Given the description of an element on the screen output the (x, y) to click on. 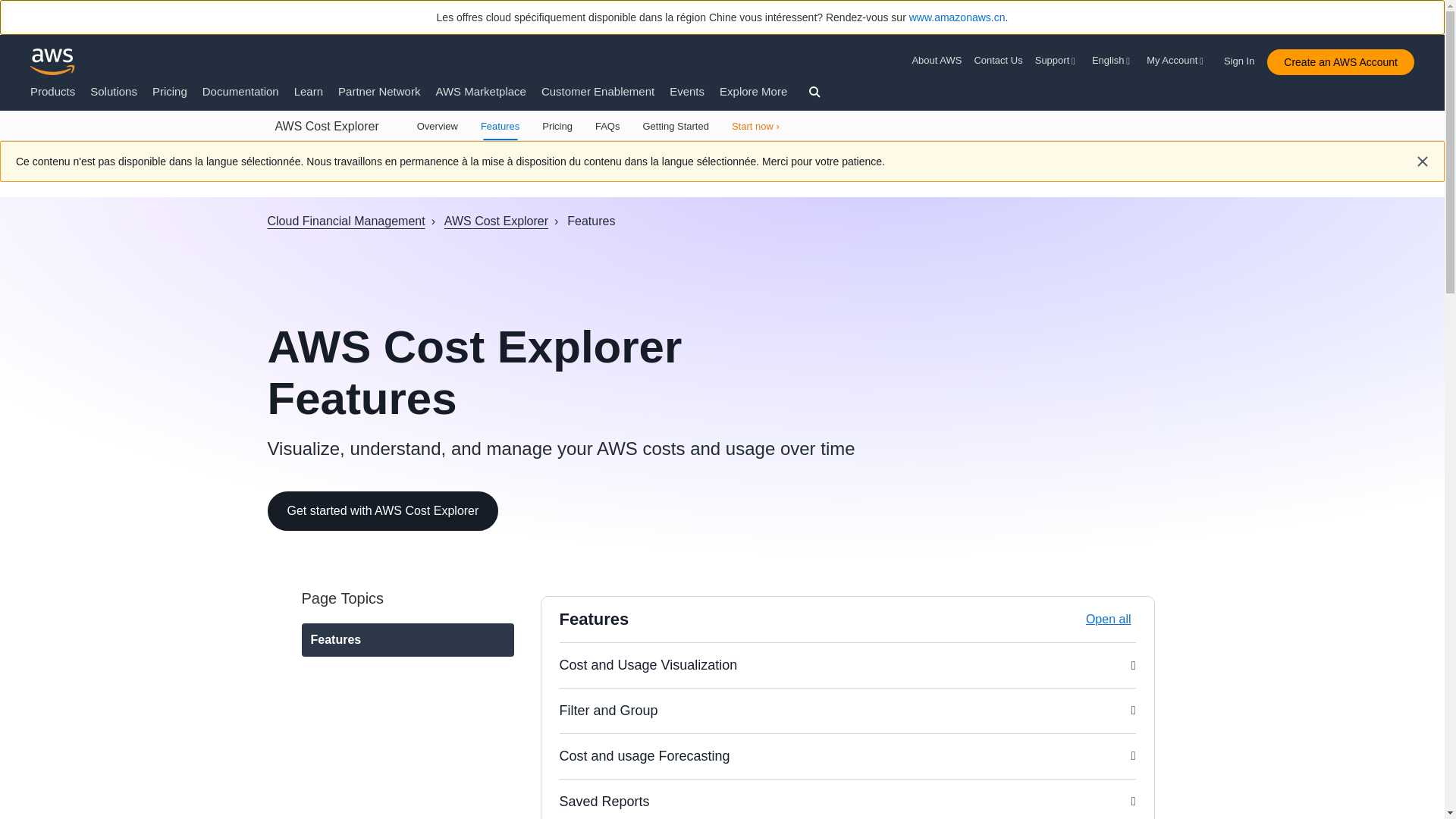
Click here to return to Amazon Web Services homepage (52, 61)
Skip to main content (7, 147)
Sign In (1243, 58)
English  (1113, 60)
Create an AWS Account (1339, 62)
Support  (1057, 60)
Events (686, 91)
About AWS (939, 60)
Partner Network (378, 91)
Pricing (169, 91)
Solutions (113, 91)
AWS Marketplace (480, 91)
www.amazonaws.cn (957, 17)
Learn (308, 91)
Products (52, 91)
